Given the description of an element on the screen output the (x, y) to click on. 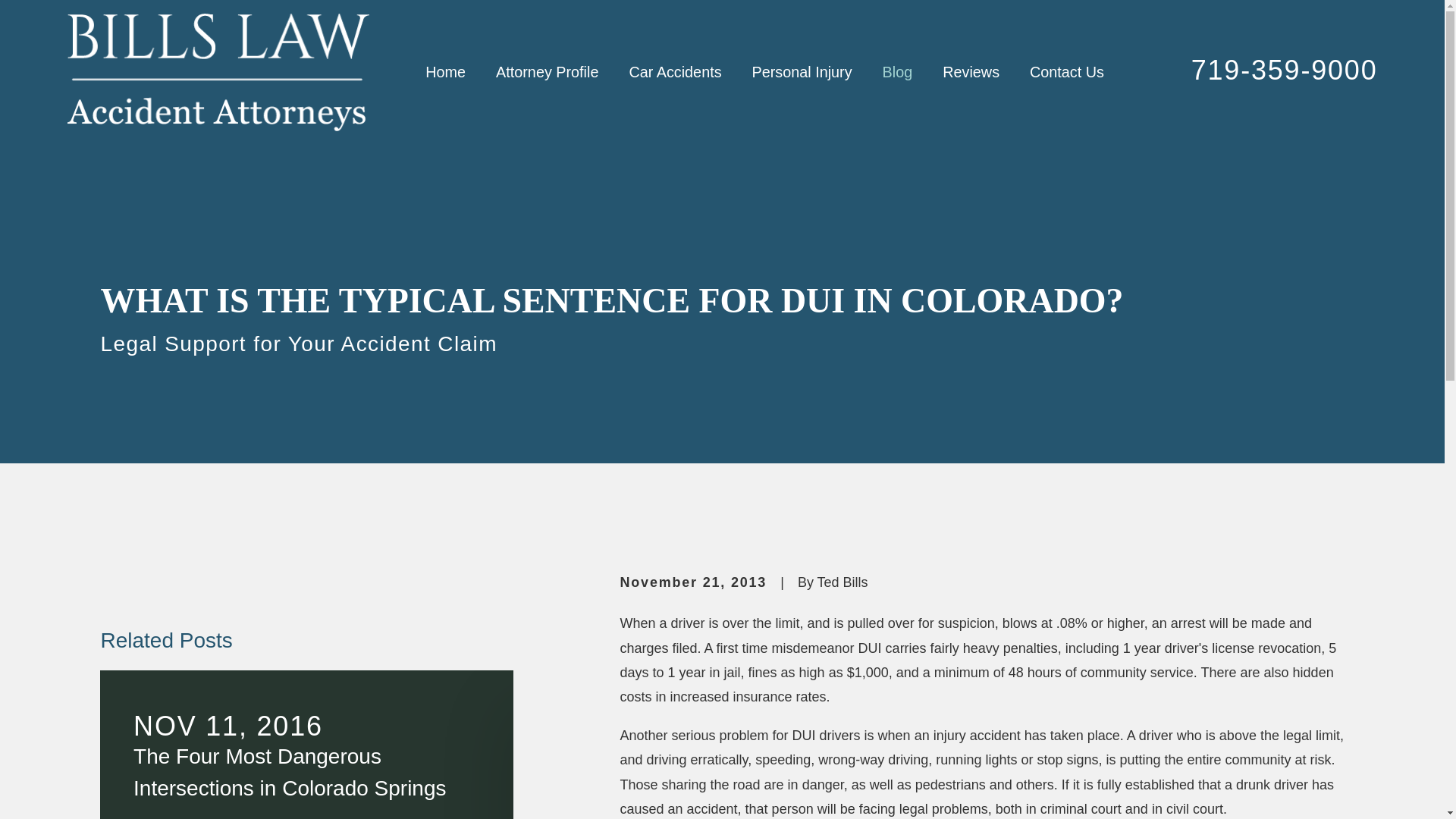
Home (217, 72)
Personal Injury (801, 72)
Car Accidents (674, 72)
Attorney Profile (547, 72)
